Given the description of an element on the screen output the (x, y) to click on. 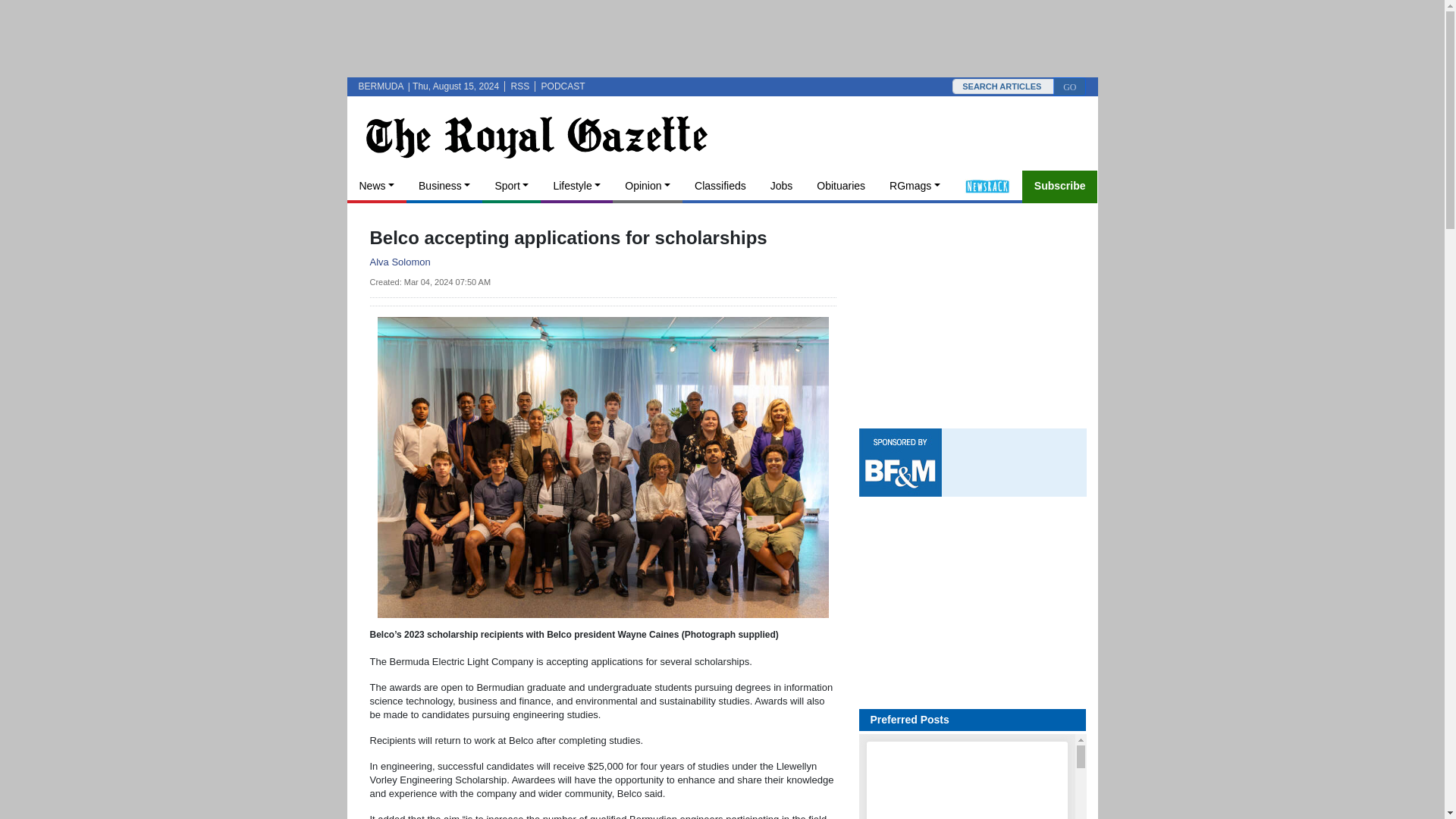
RSS (520, 86)
GO (1069, 86)
PODCAST (563, 86)
GO (1069, 86)
